Given the description of an element on the screen output the (x, y) to click on. 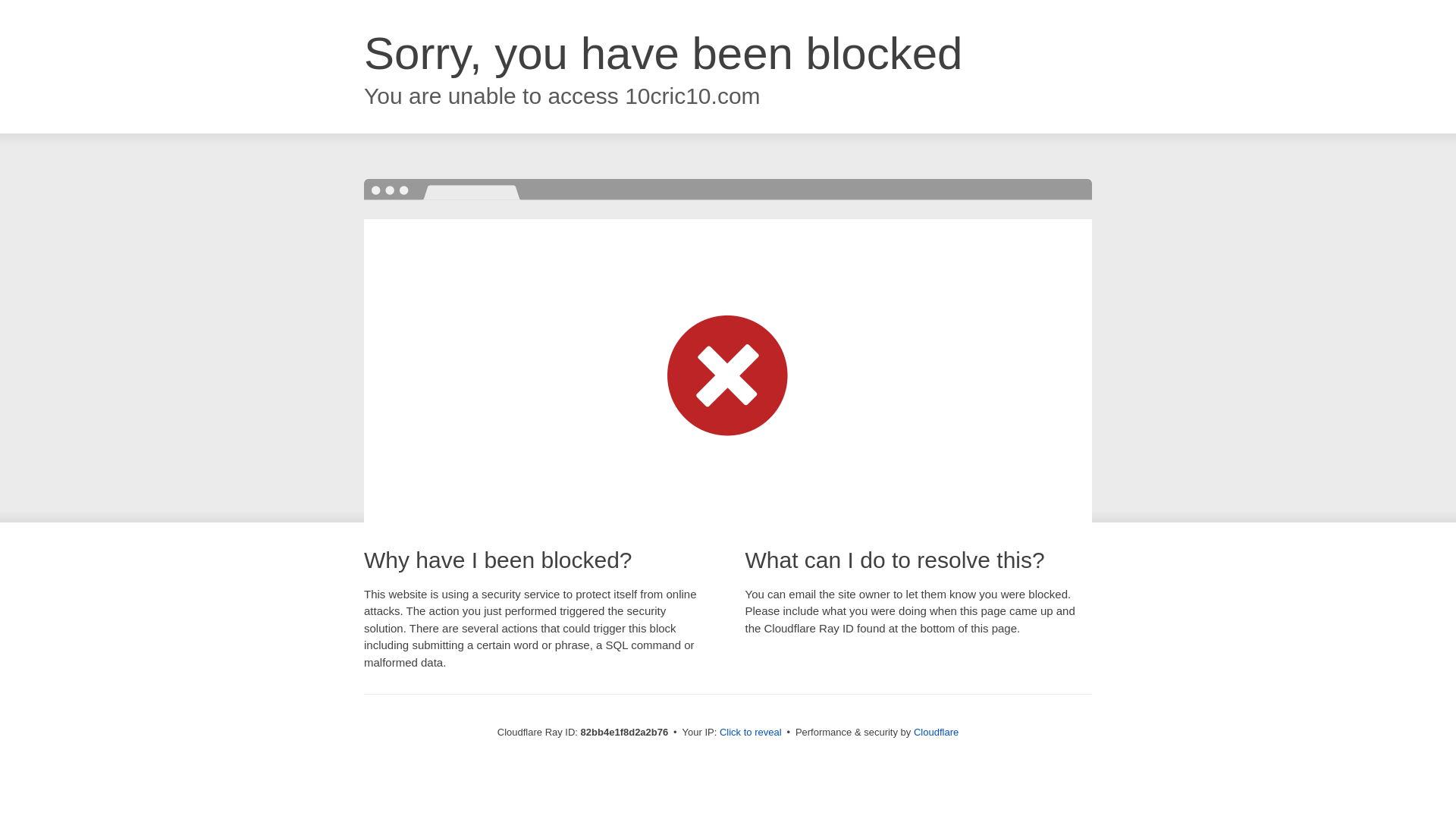
Cloudflare Element type: text (935, 731)
Click to reveal Element type: text (750, 732)
